Given the description of an element on the screen output the (x, y) to click on. 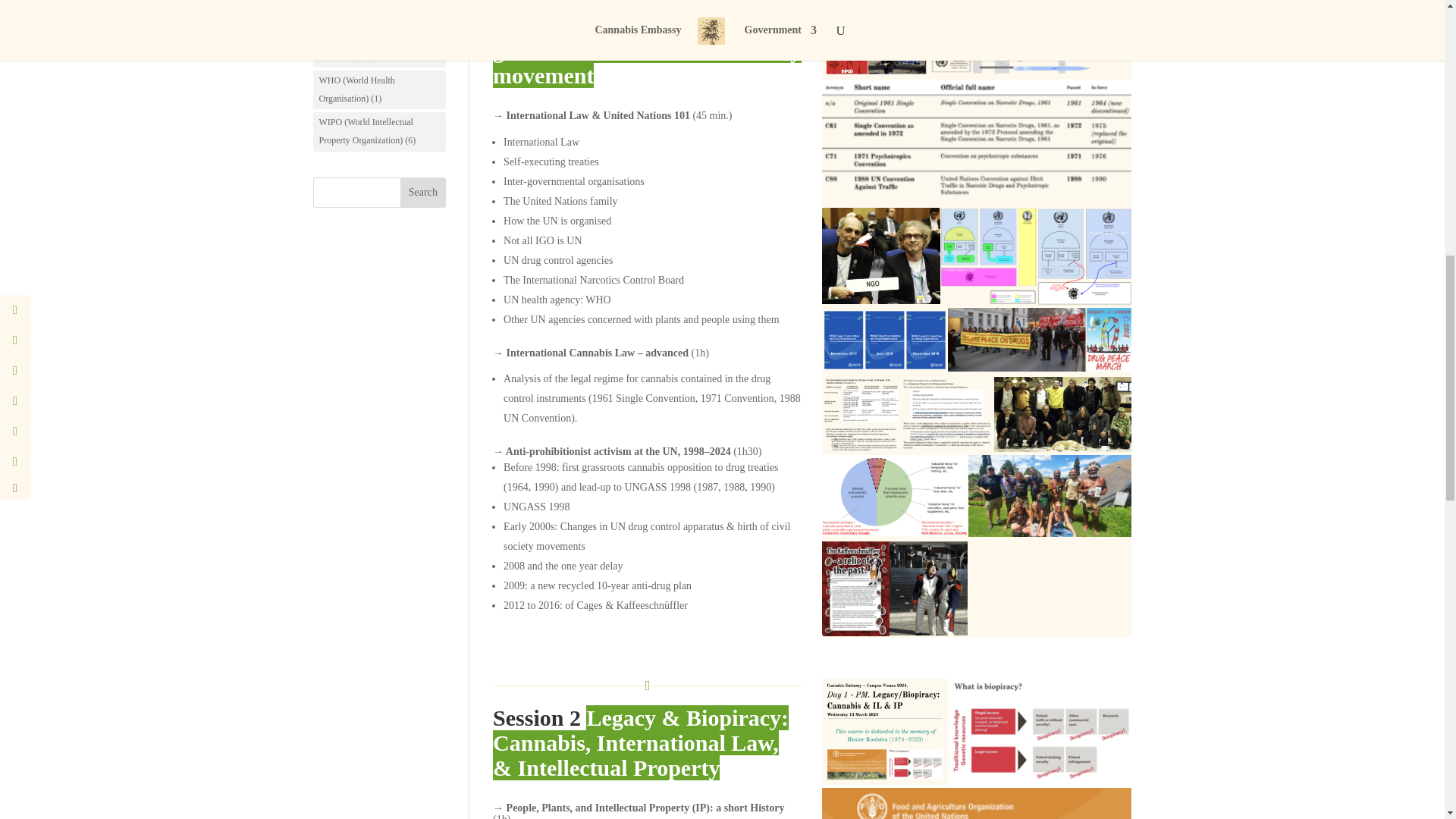
Search (422, 192)
Search (422, 192)
